Given the description of an element on the screen output the (x, y) to click on. 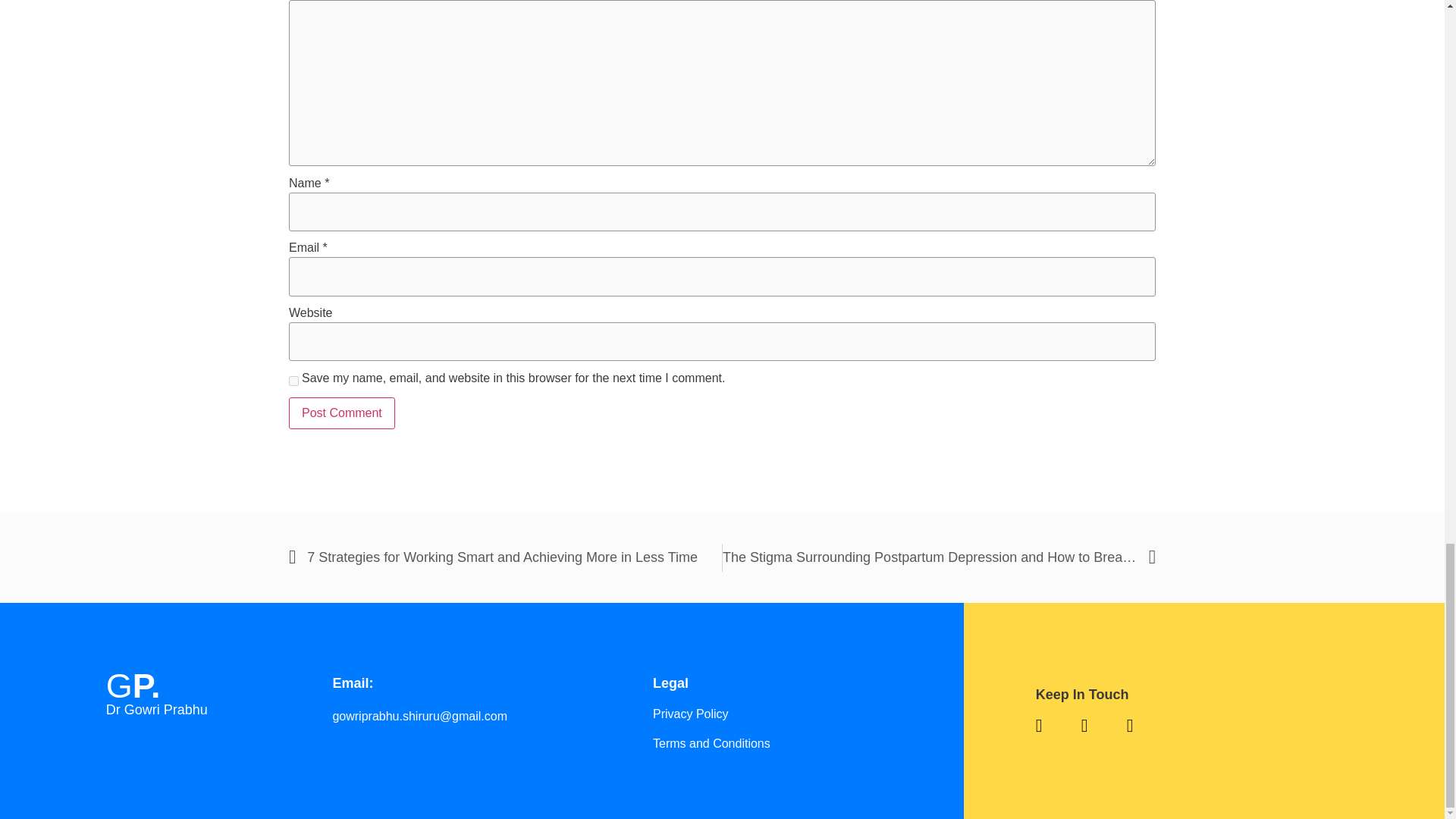
yes (293, 380)
Privacy Policy (779, 714)
Post Comment (341, 413)
Post Comment (341, 413)
Terms and Conditions (779, 743)
GP. (133, 685)
